Given the description of an element on the screen output the (x, y) to click on. 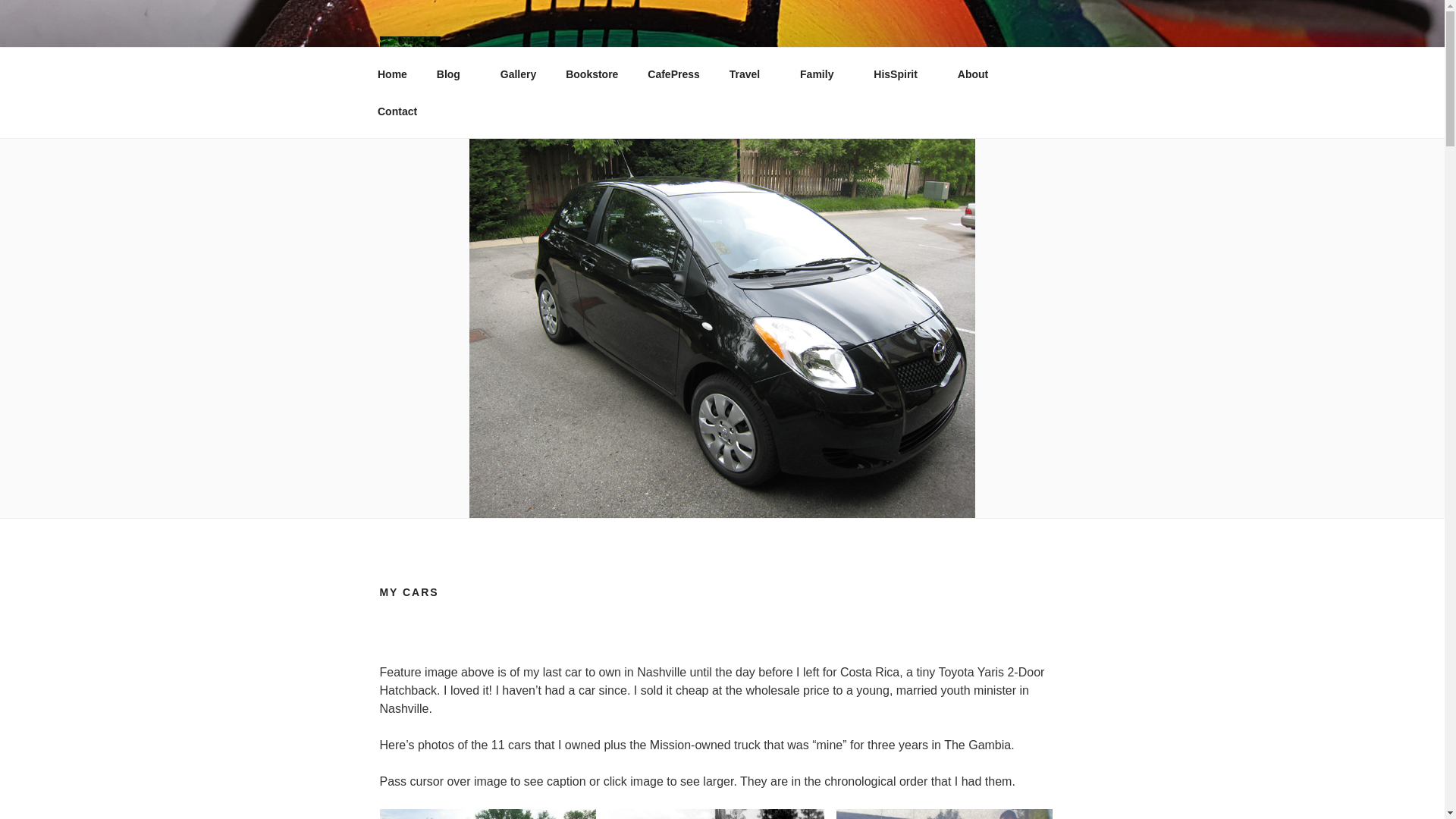
Blog (453, 74)
Home (392, 74)
RETIRED IN COSTA RICA (655, 60)
